Given the description of an element on the screen output the (x, y) to click on. 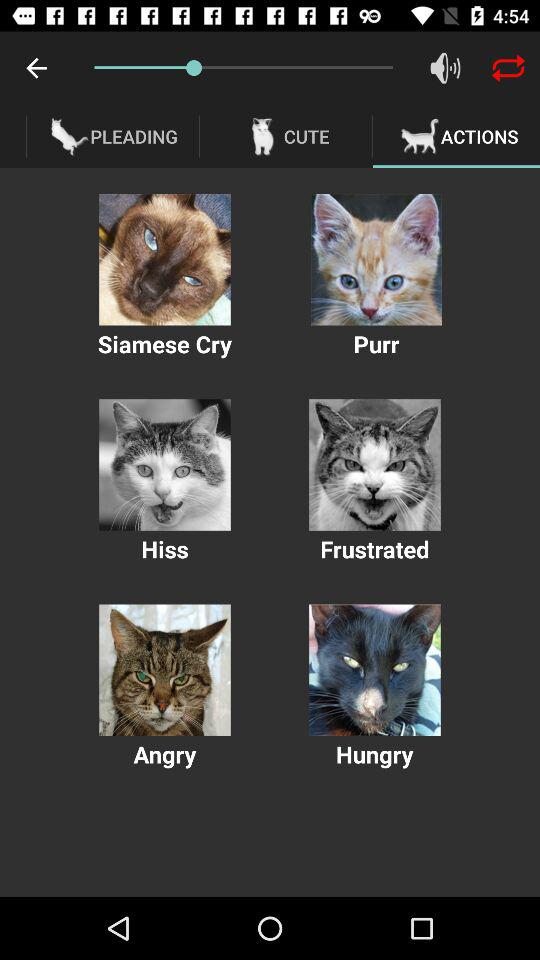
increase the volume (445, 67)
